Given the description of an element on the screen output the (x, y) to click on. 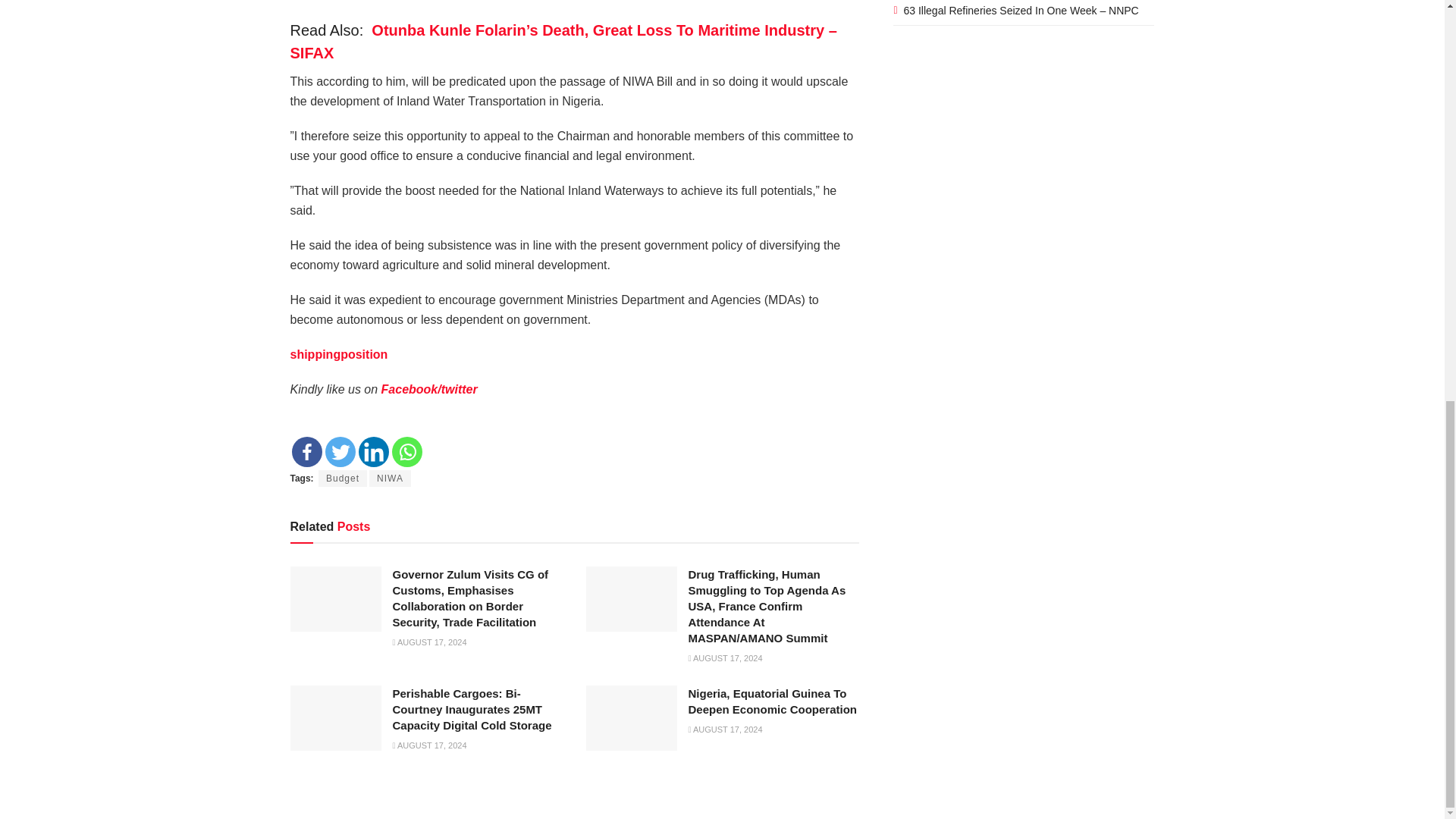
Linkedin (373, 451)
shippingposition (338, 354)
Budget (342, 478)
Twitter (339, 451)
NIWA (389, 478)
Facebook (306, 451)
AUGUST 17, 2024 (430, 642)
AUGUST 17, 2024 (725, 657)
Whatsapp (406, 451)
